Given the description of an element on the screen output the (x, y) to click on. 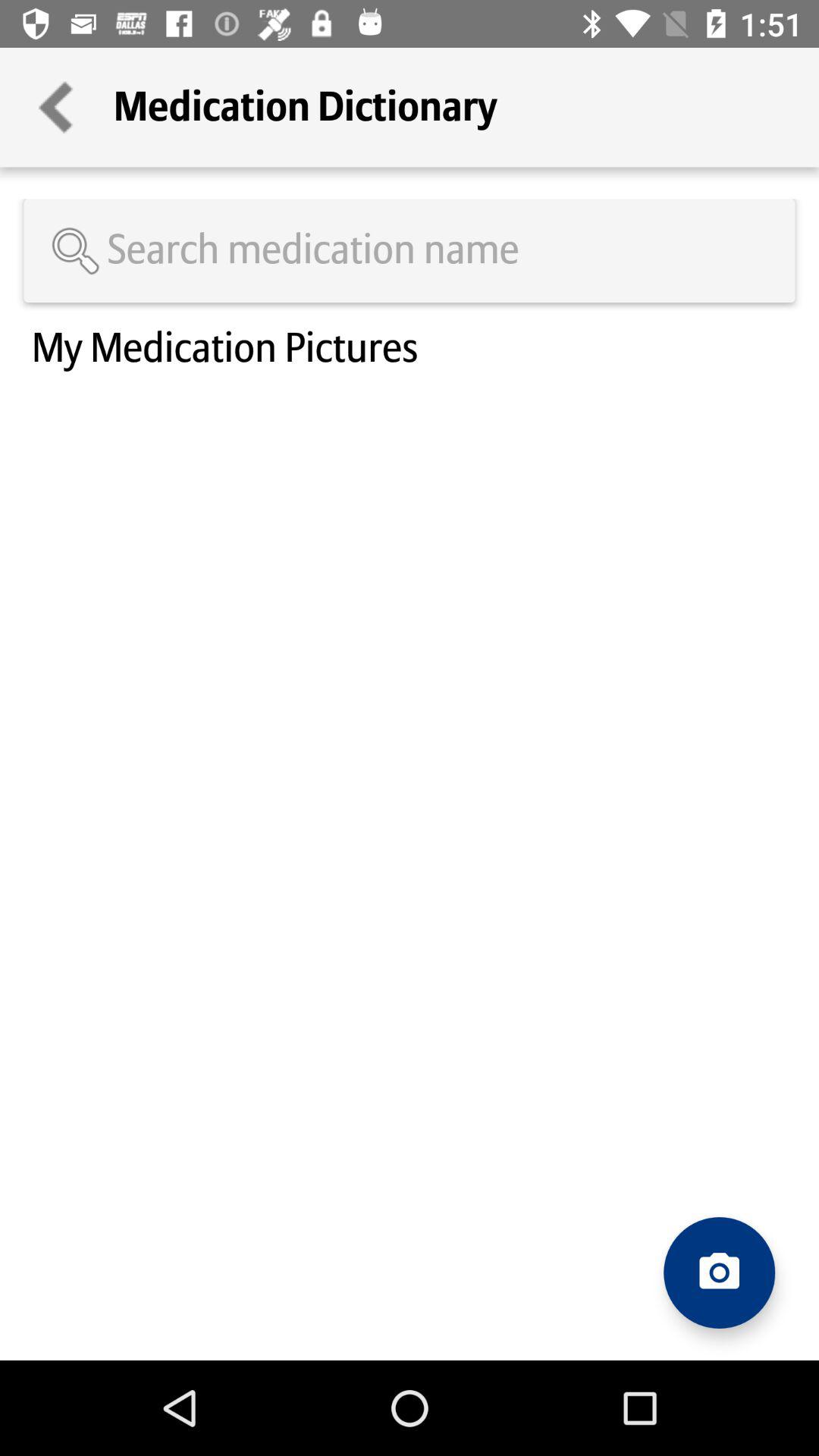
take a photo (719, 1272)
